Given the description of an element on the screen output the (x, y) to click on. 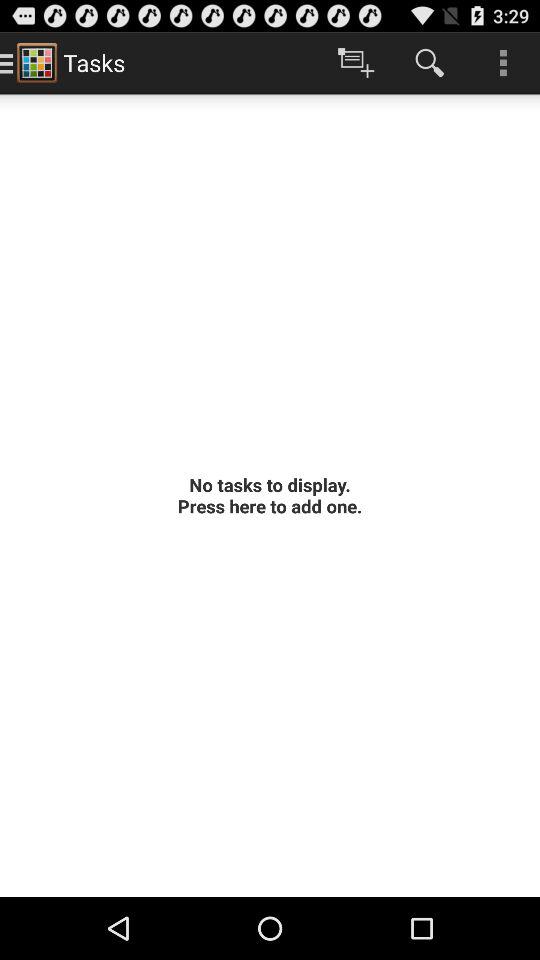
open the app to the right of tasks app (356, 62)
